Given the description of an element on the screen output the (x, y) to click on. 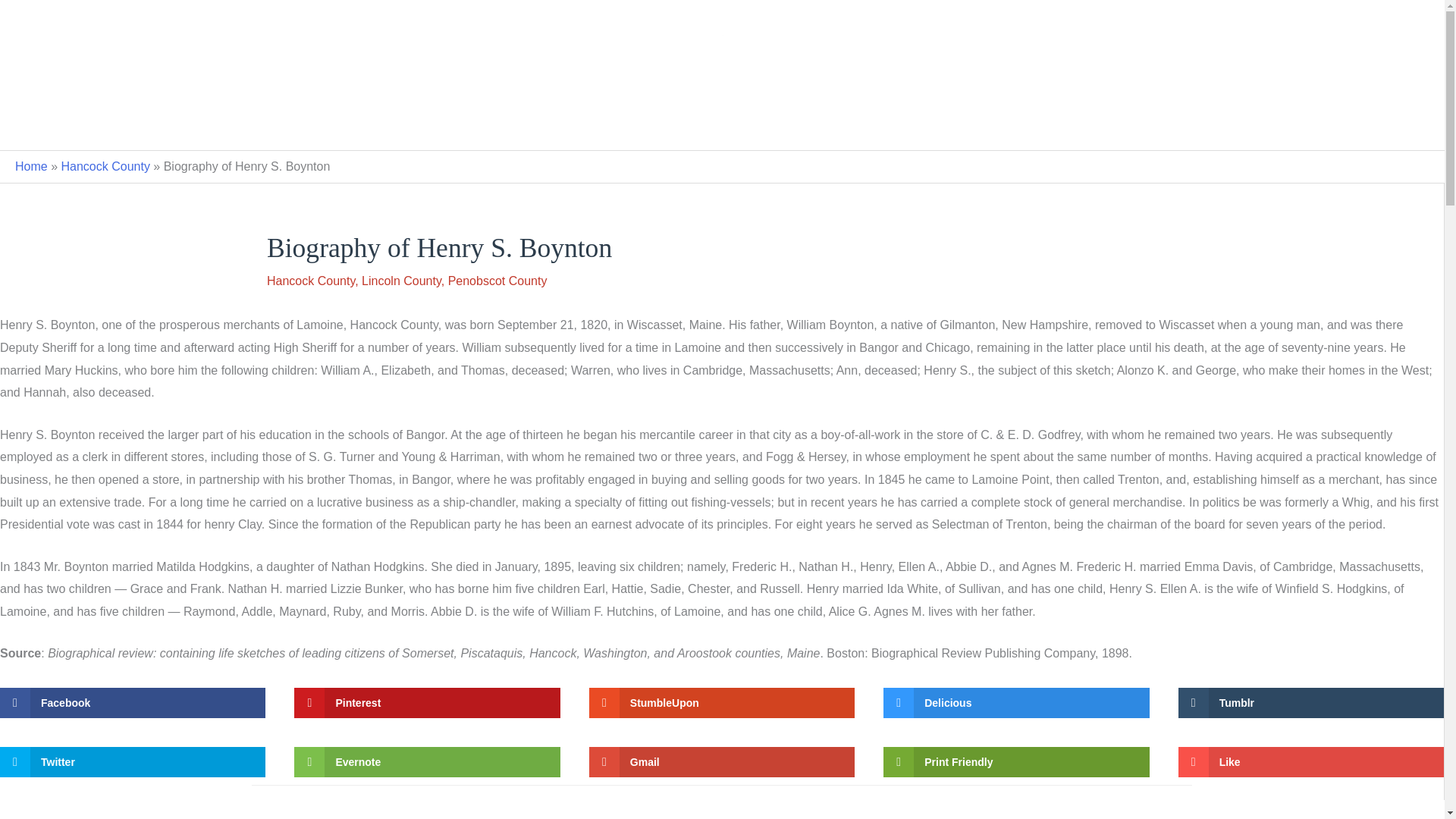
Gmail (721, 761)
Contact Us! (722, 125)
Twitter (132, 761)
Print Friendly (1015, 761)
Evernote (426, 761)
Hancock County (310, 280)
Facebook (132, 702)
Penobscot County (497, 280)
Like (1310, 761)
Home (31, 165)
